Given the description of an element on the screen output the (x, y) to click on. 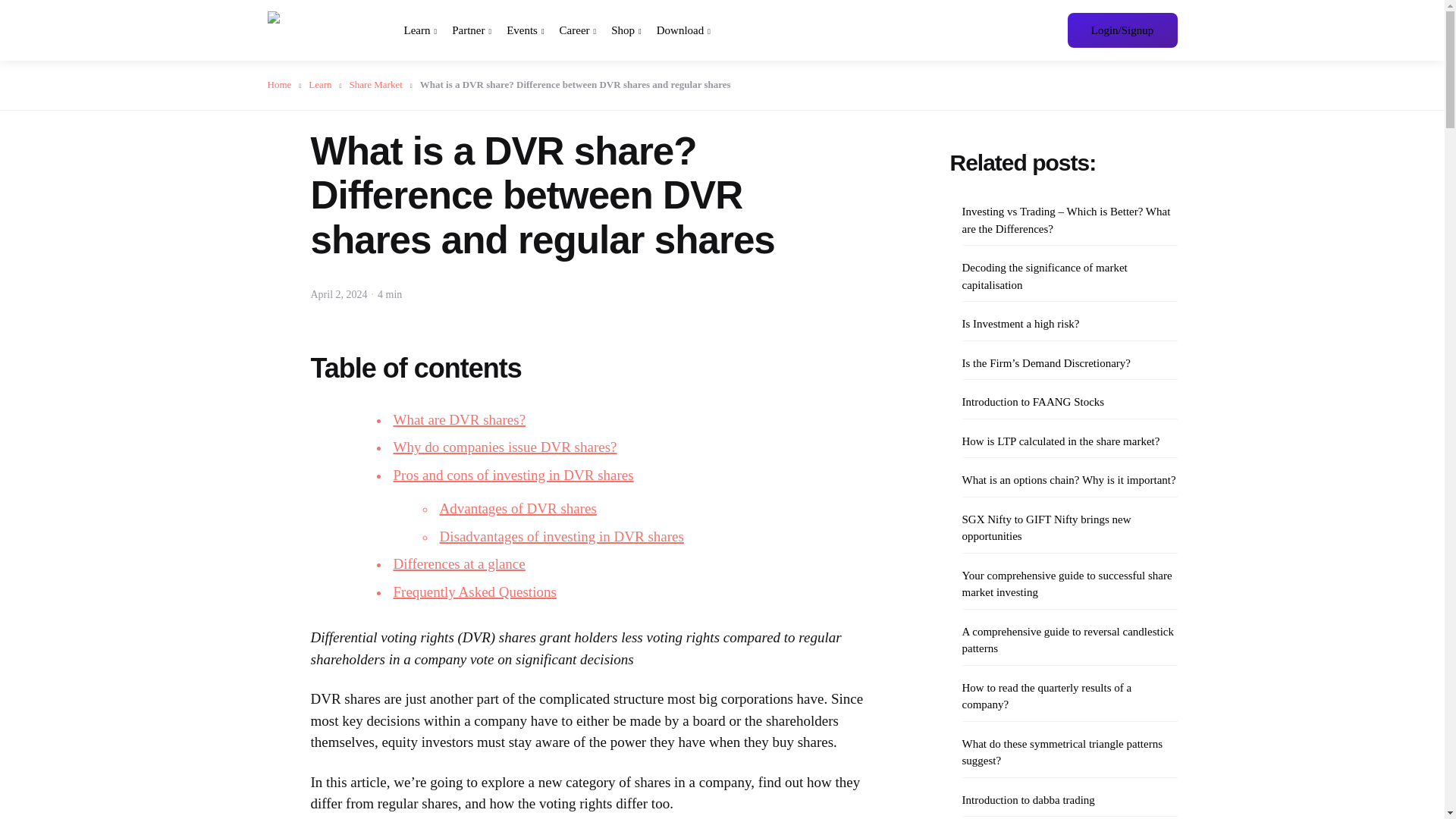
What do these symmetrical triangle patterns suggest? (1068, 752)
What is an options chain? Why is it important? (1067, 480)
Introduction to dabba trading (1027, 799)
Introduction to FAANG Stocks (1031, 401)
Download (683, 30)
Career (577, 30)
Share Market (380, 84)
Events (524, 30)
SGX Nifty to GIFT Nifty brings new opportunities (1068, 527)
